Given the description of an element on the screen output the (x, y) to click on. 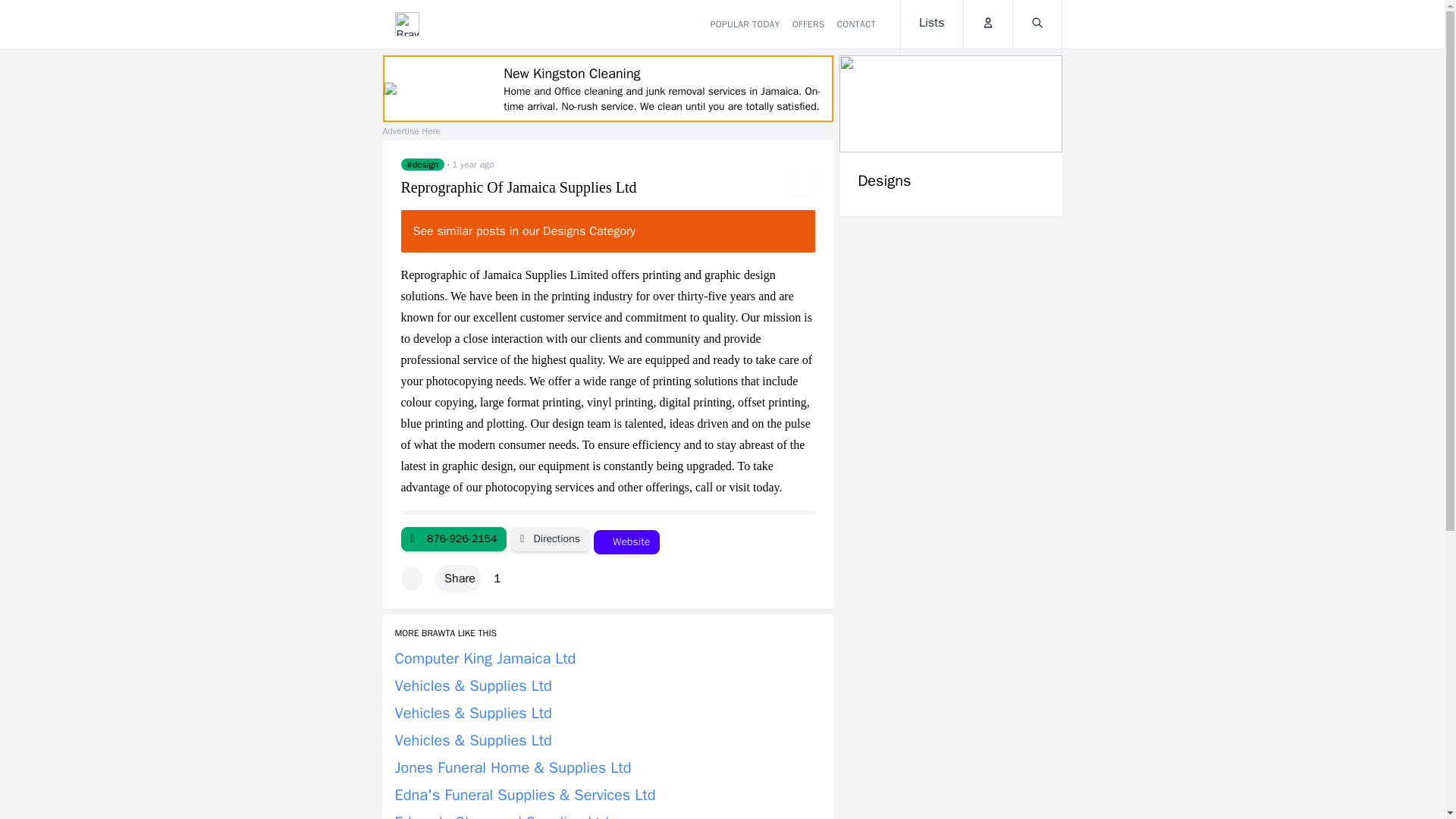
 Directions (550, 539)
  876-926-2154 (453, 539)
 Website (626, 541)
Go to Designs (950, 135)
POPULAR TODAY (745, 24)
Like (411, 578)
Advertise Here (410, 131)
Click to Call (453, 539)
See similar posts in our Designs Category     (607, 230)
Go to Designs (422, 164)
Edwards Glass and Supplies Ltd (501, 816)
Account (986, 24)
Search (1037, 24)
